Given the description of an element on the screen output the (x, y) to click on. 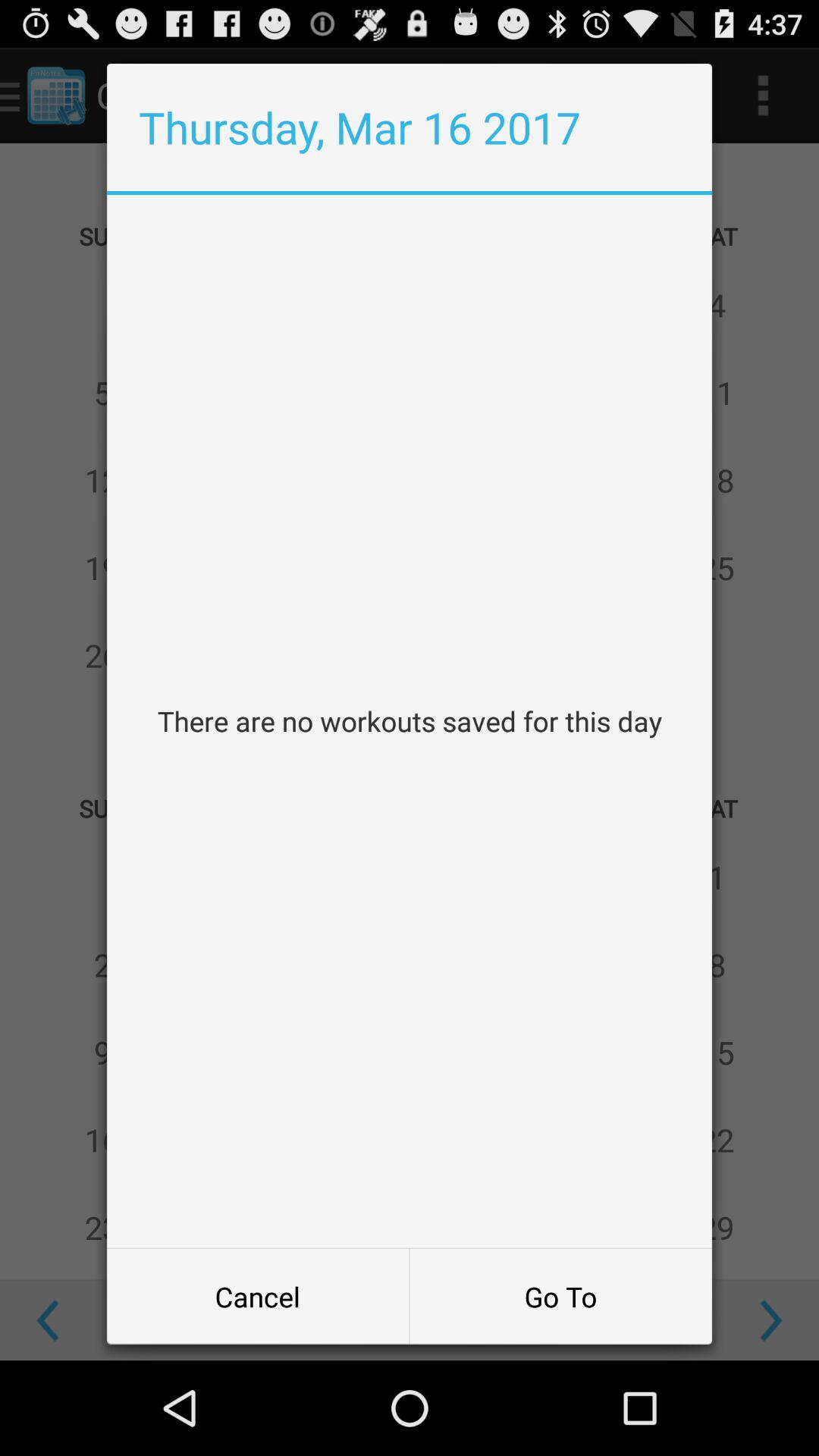
launch icon to the left of go to item (257, 1296)
